Given the description of an element on the screen output the (x, y) to click on. 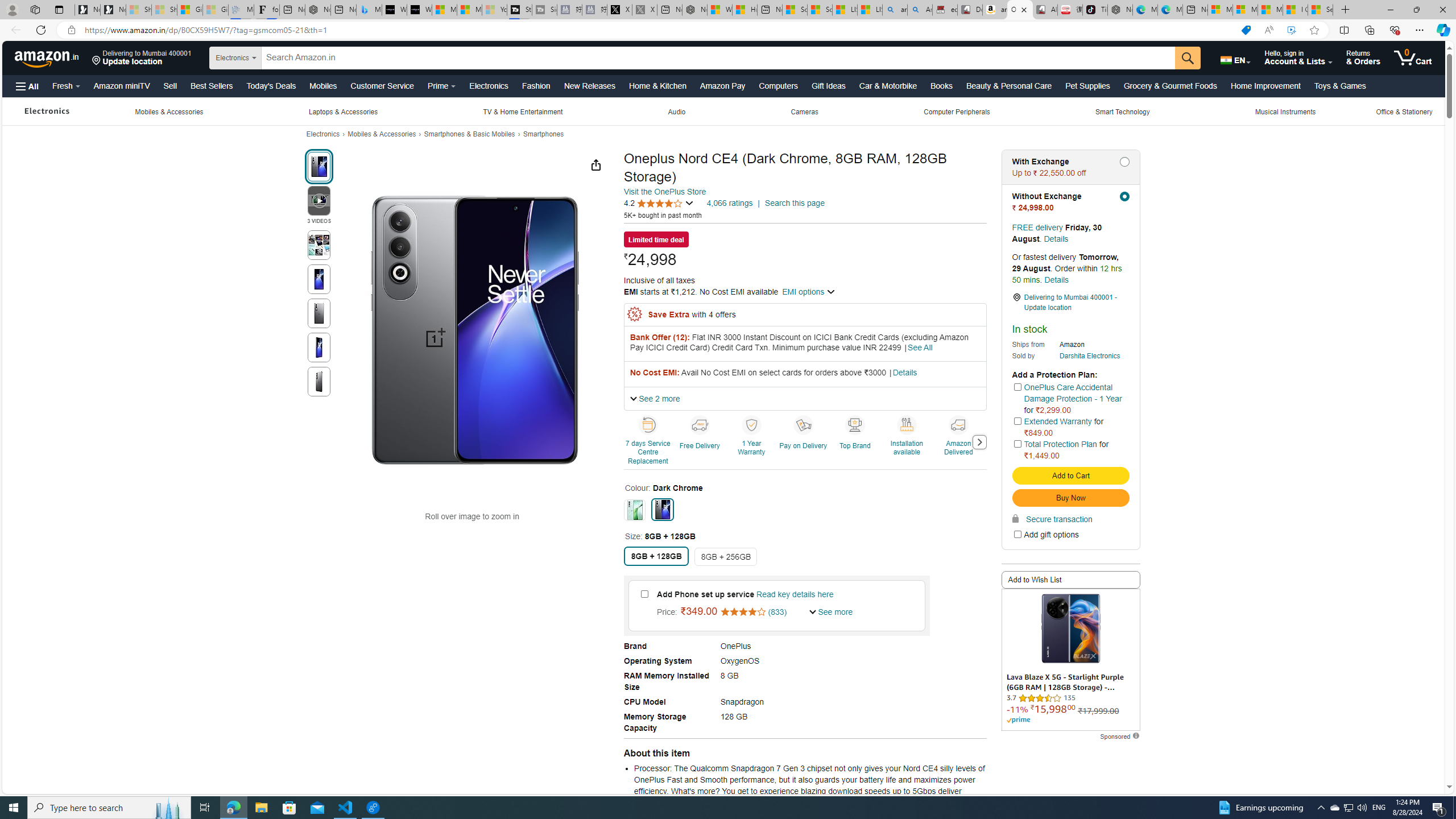
Pet Supplies (1087, 85)
7 days Service Centre Replacement (647, 424)
Nordace - Best Sellers (1119, 9)
TikTok (1094, 9)
Grocery & Gourmet Foods (1170, 85)
Smartphones & Basic Mobiles (469, 134)
Home Improvement (1265, 85)
1 Year Warranty (751, 424)
Mobiles & Accessories (381, 134)
